Given the description of an element on the screen output the (x, y) to click on. 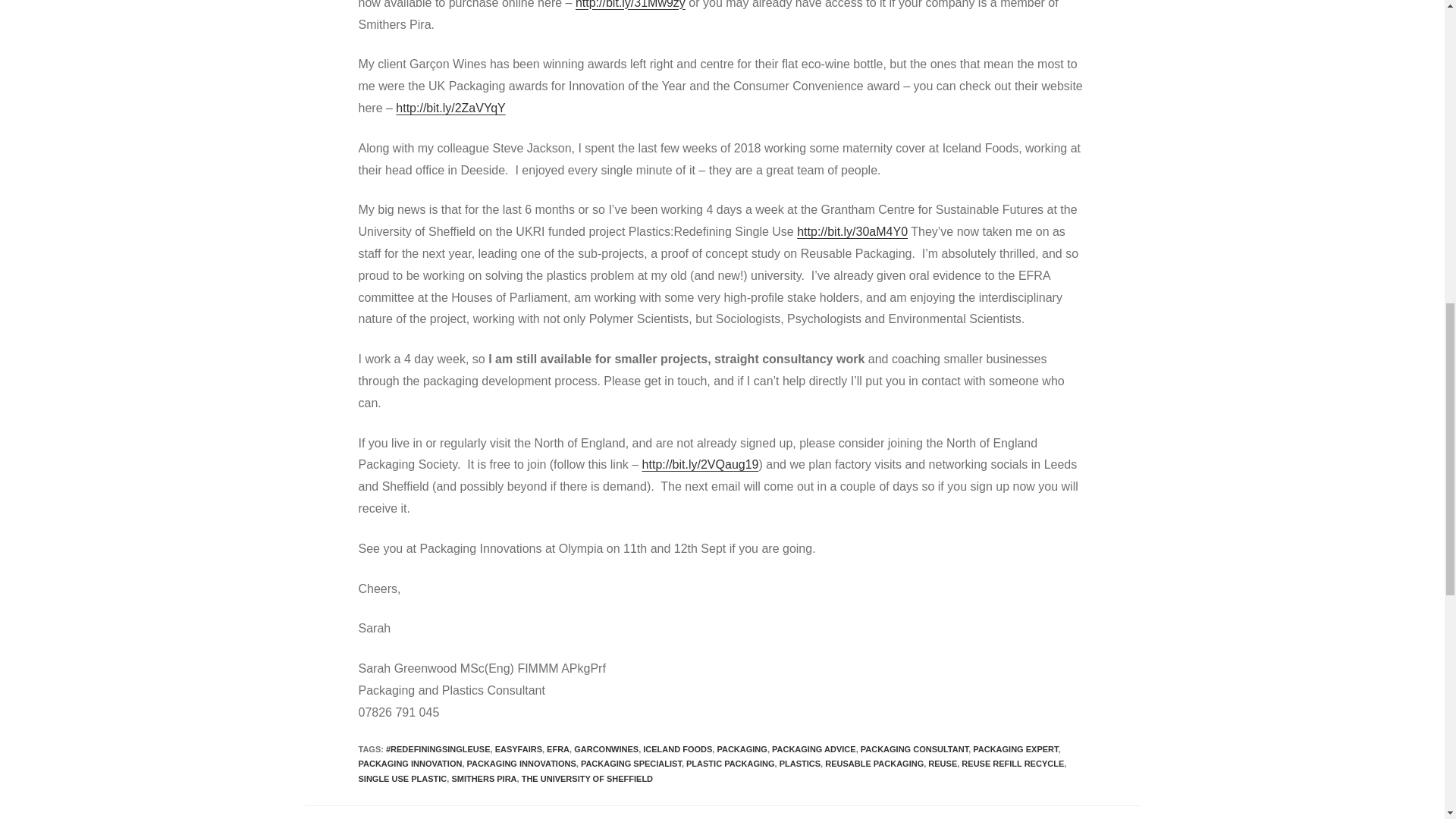
THE UNIVERSITY OF SHEFFIELD (586, 777)
SMITHERS PIRA (483, 777)
PACKAGING CONSULTANT (914, 748)
PLASTICS (799, 763)
PACKAGING INNOVATION (409, 763)
PACKAGING (741, 748)
PLASTIC PACKAGING (729, 763)
PACKAGING EXPERT (1015, 748)
GARCONWINES (606, 748)
REUSE REFILL RECYCLE (1012, 763)
